Given the description of an element on the screen output the (x, y) to click on. 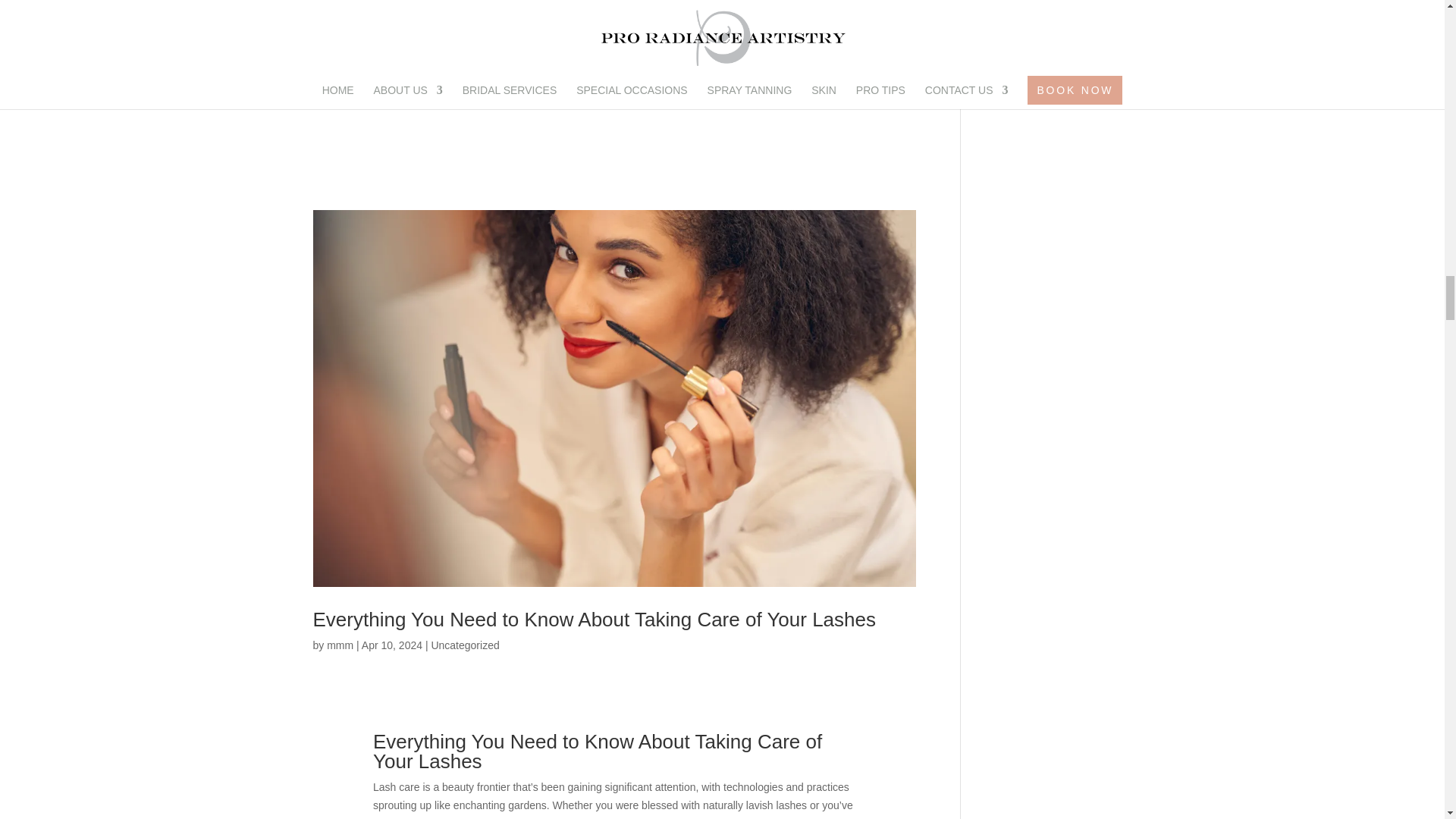
Posts by mmm (339, 645)
Everything You Need to Know About Taking Care of Your Lashes (594, 619)
Uncategorized (464, 645)
mmm (339, 645)
